Given the description of an element on the screen output the (x, y) to click on. 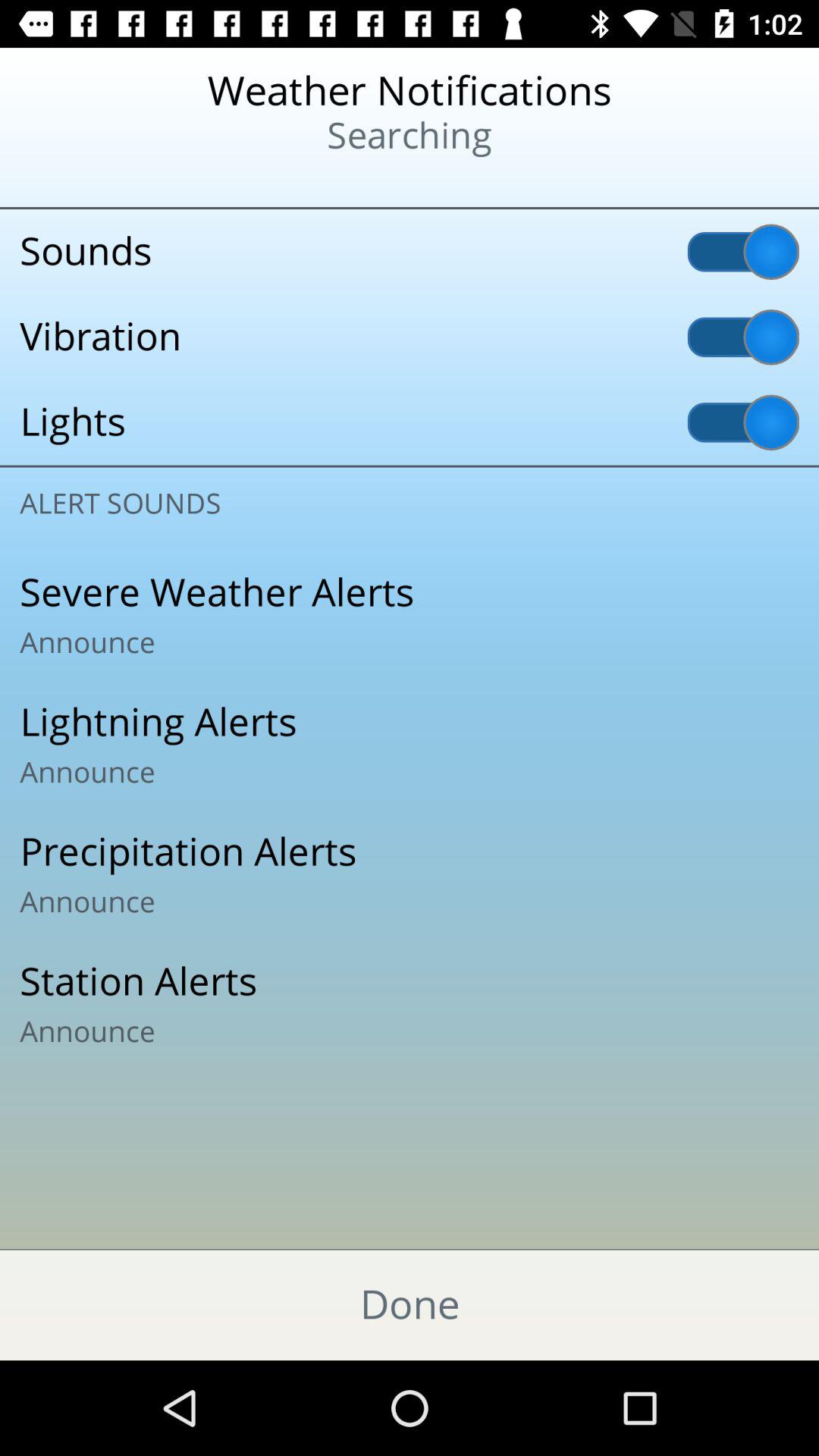
jump until the vibration icon (409, 336)
